Given the description of an element on the screen output the (x, y) to click on. 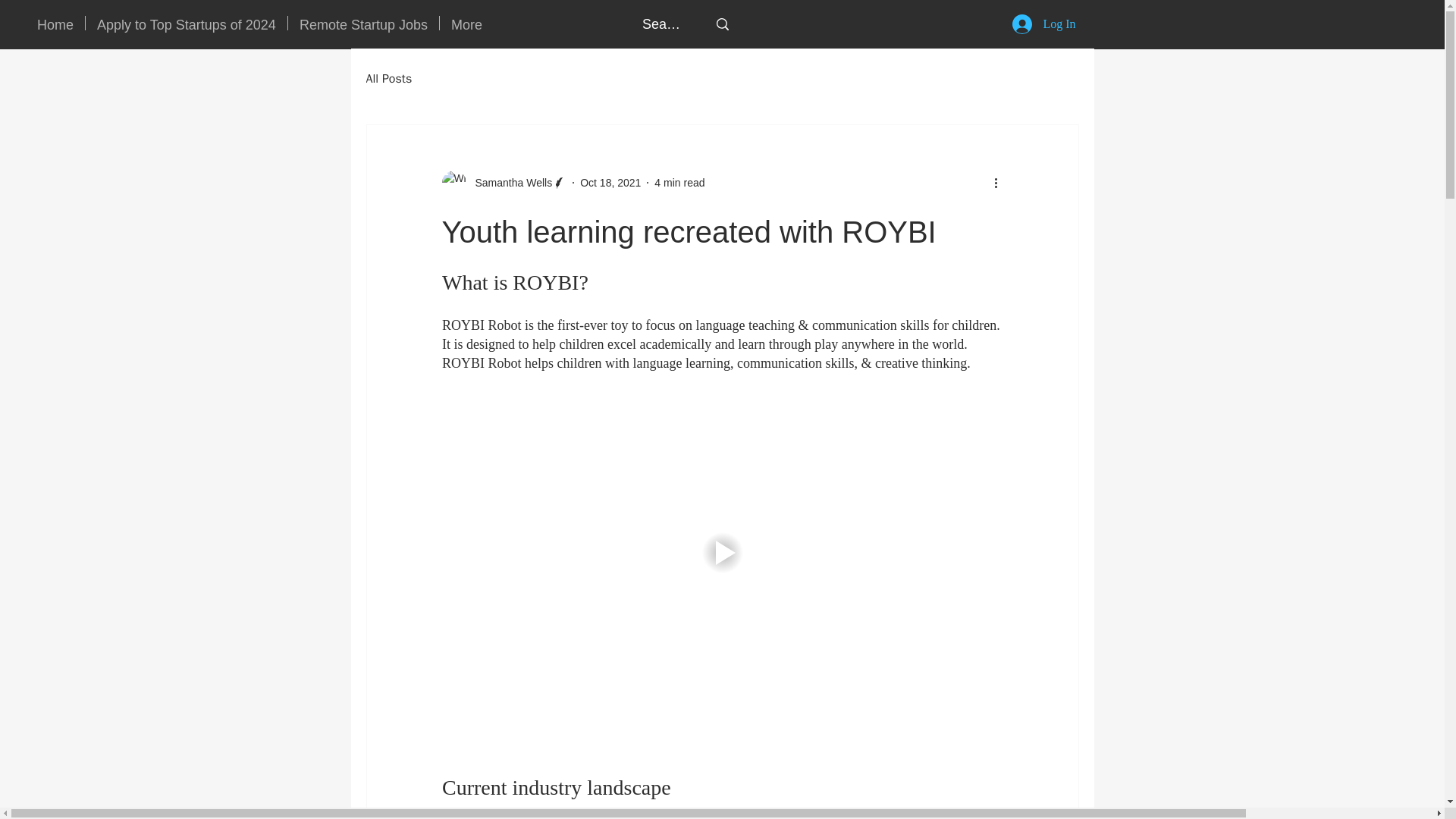
All Posts (388, 78)
Log In (1043, 23)
Remote Startup Jobs (363, 22)
4 min read (678, 182)
Apply to Top Startups of 2024 (185, 22)
Home (55, 22)
Oct 18, 2021 (609, 182)
Samantha Wells (503, 182)
Samantha Wells (508, 182)
